Given the description of an element on the screen output the (x, y) to click on. 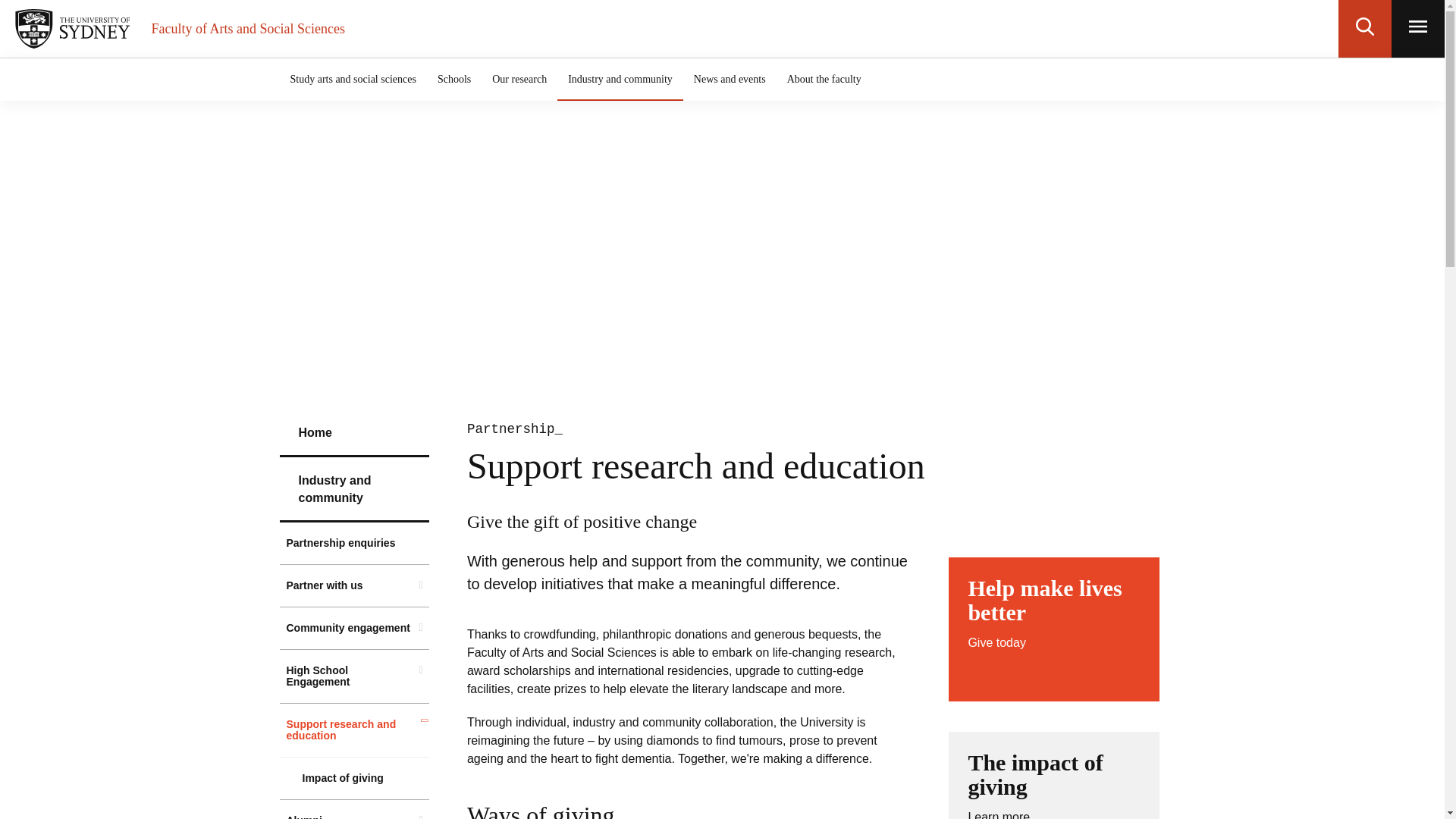
Industry and community (354, 489)
Partner with us (354, 585)
Faculty of Arts and Social Sciences (247, 28)
About the faculty (824, 79)
Industry and community (619, 79)
University of Sydney (75, 28)
Study arts and social sciences (1053, 629)
Partnership enquiries (352, 79)
